Given the description of an element on the screen output the (x, y) to click on. 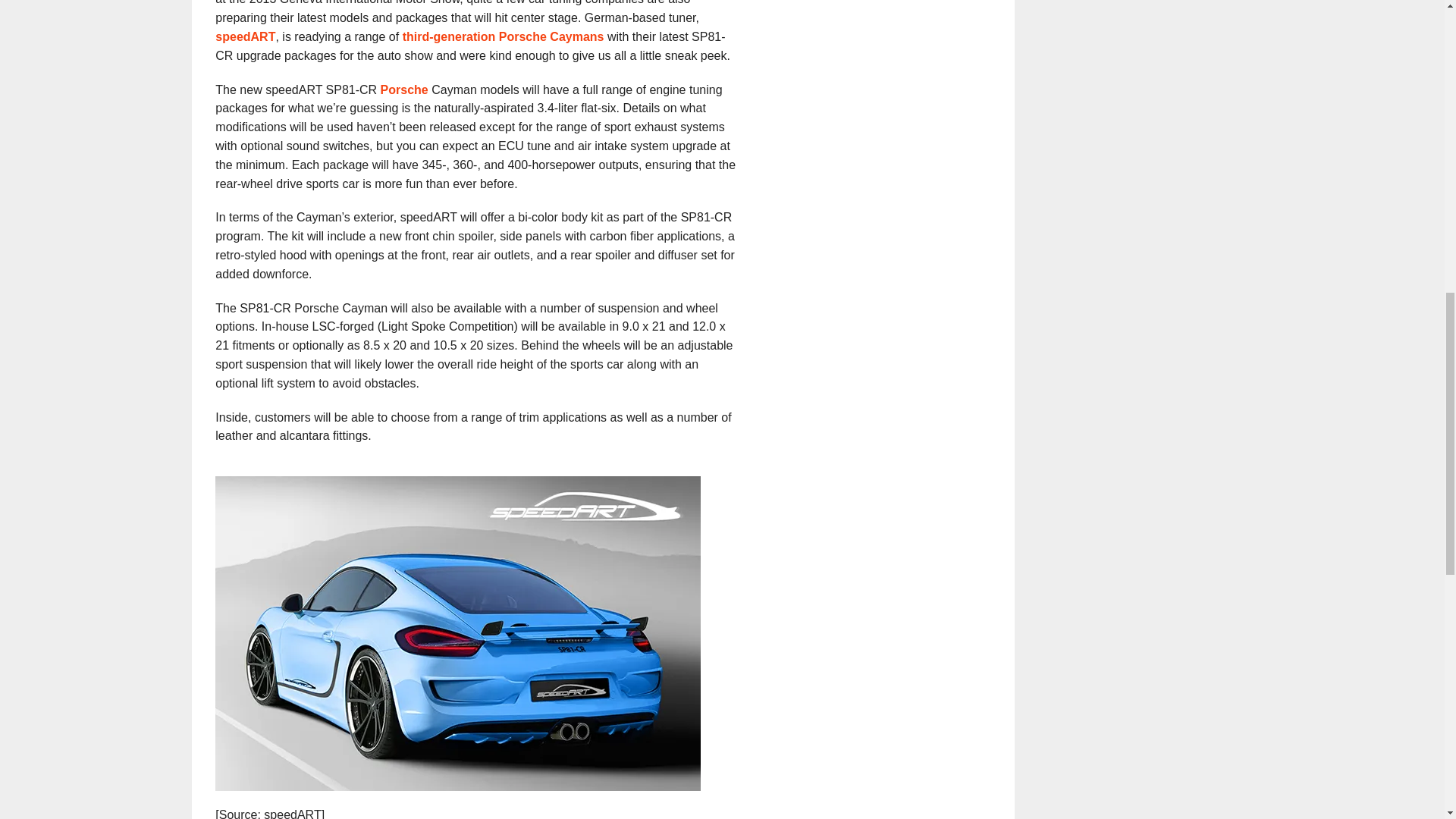
The new Third-Generation Porsche Cayman and Cayman S Exposed (503, 36)
third-generation Porsche Caymans (503, 36)
Porsche (404, 89)
speedART (245, 36)
